Given the description of an element on the screen output the (x, y) to click on. 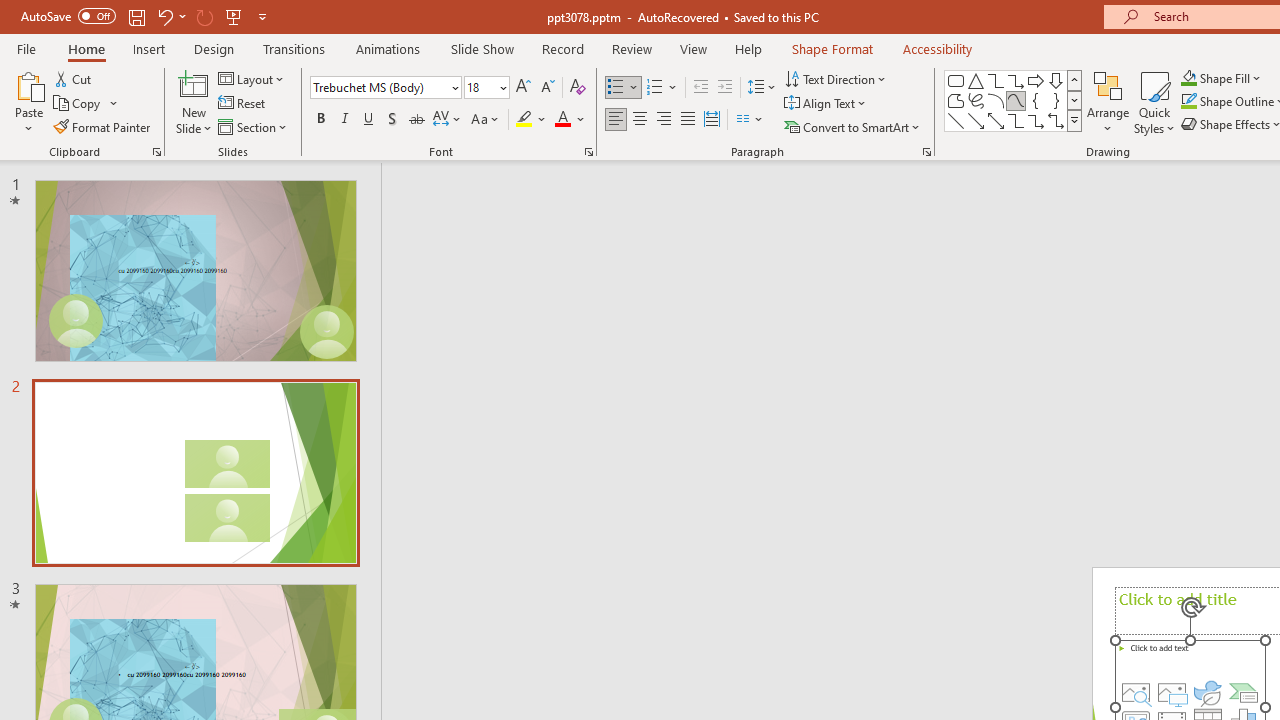
Pictures (1171, 692)
